Given the description of an element on the screen output the (x, y) to click on. 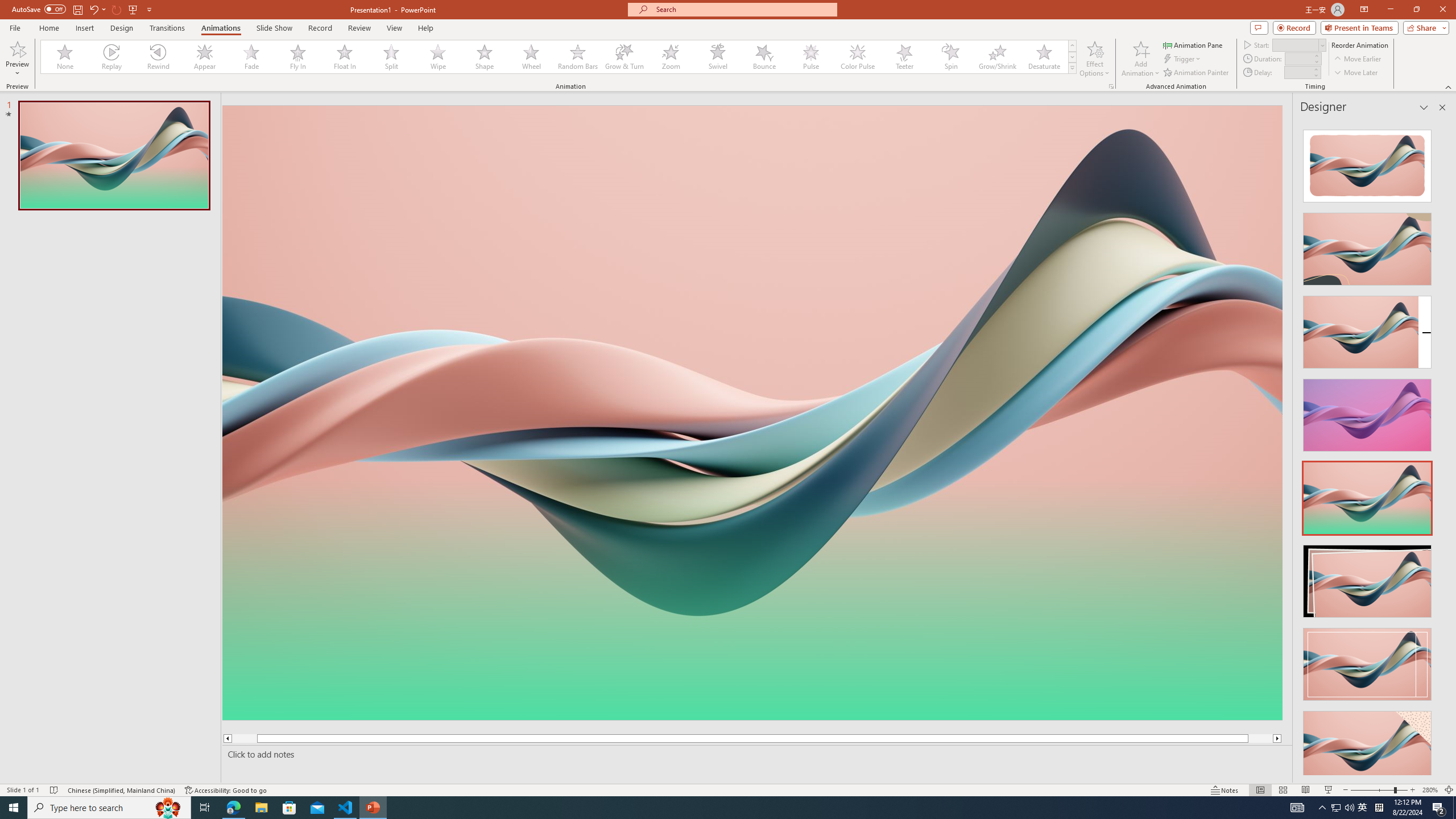
Zoom 280% (1430, 790)
Animation Pane (1193, 44)
Decorative Locked (752, 579)
Random Bars (577, 56)
None (65, 56)
